Given the description of an element on the screen output the (x, y) to click on. 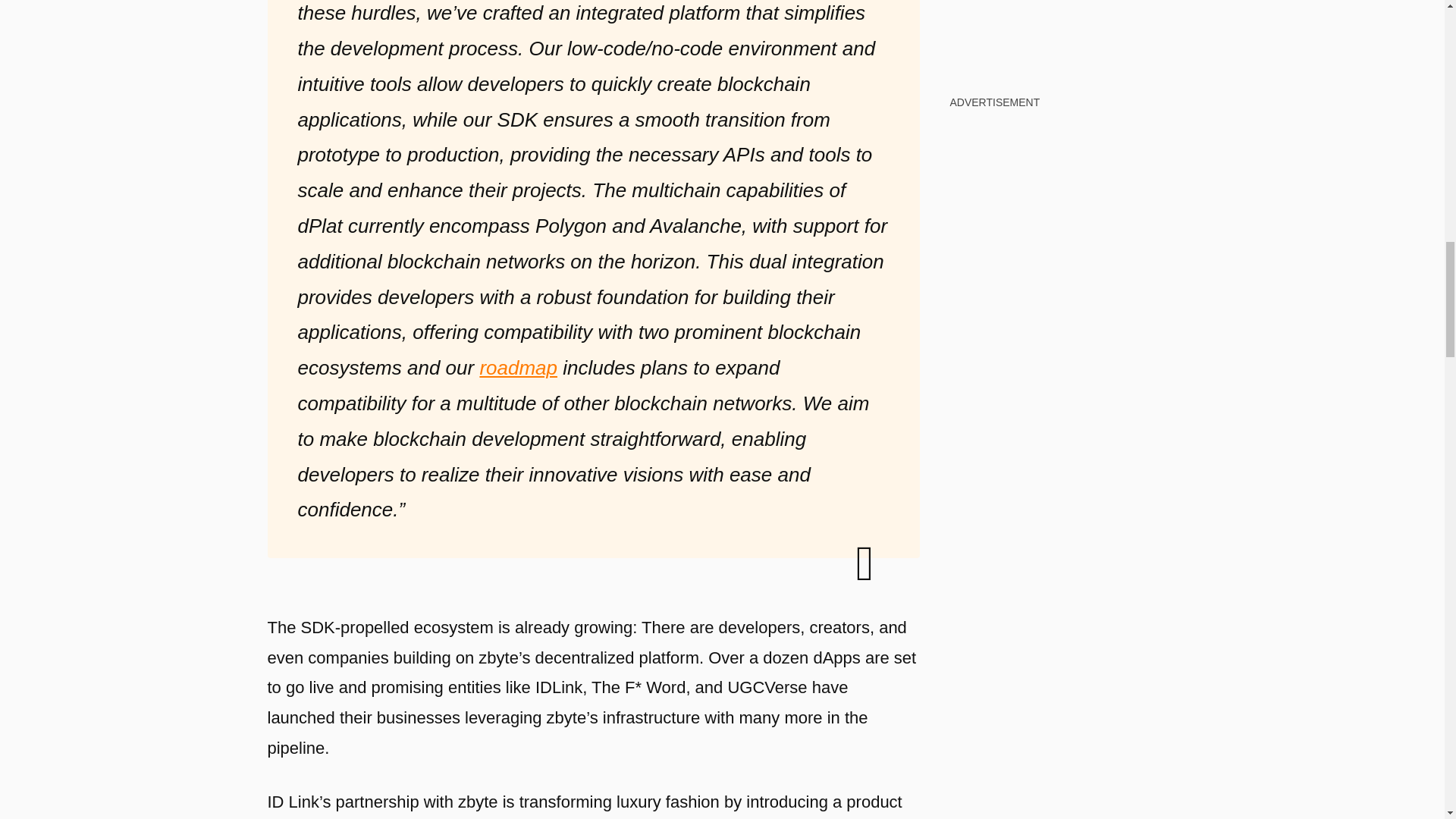
roadmap (518, 367)
